Given the description of an element on the screen output the (x, y) to click on. 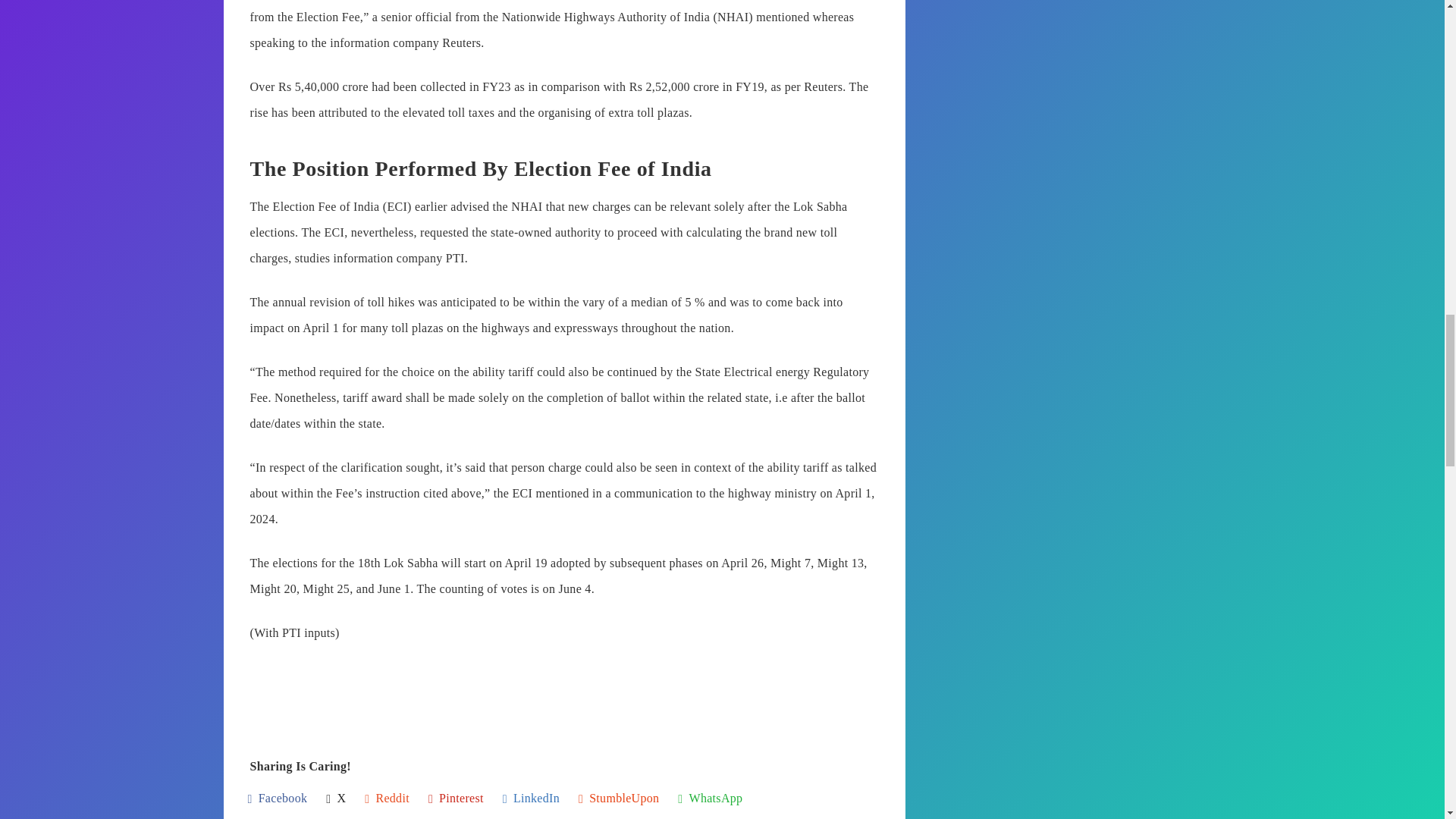
Reddit (387, 798)
LinkedIn (530, 798)
Pinterest (455, 798)
WhatsApp (710, 798)
StumbleUpon (618, 798)
Facebook (277, 798)
